Given the description of an element on the screen output the (x, y) to click on. 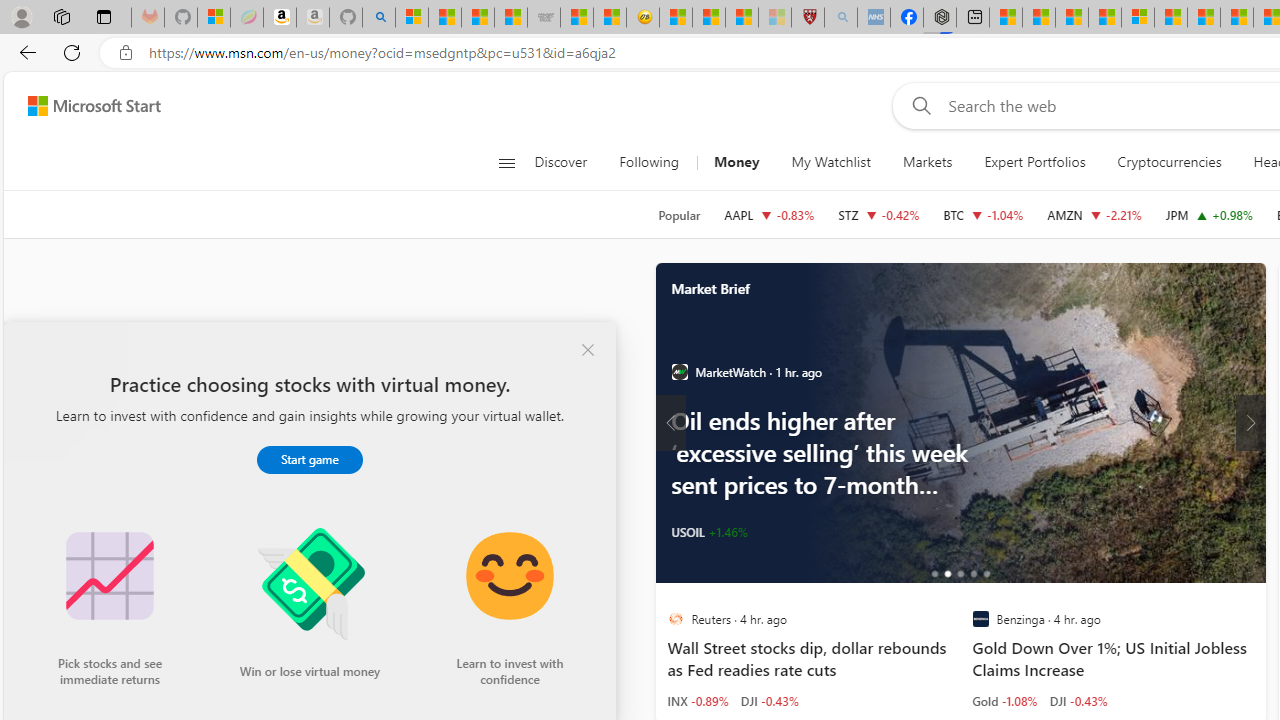
BTC Bitcoin decrease 60,607.86 -629.74 -1.04% (982, 214)
Oil edges higher after back-to-back weekly gains (1031, 422)
DJI -0.43% (1078, 700)
Cryptocurrencies (1169, 162)
USOIL +1.46% (708, 532)
My Watchlist (830, 162)
